Given the description of an element on the screen output the (x, y) to click on. 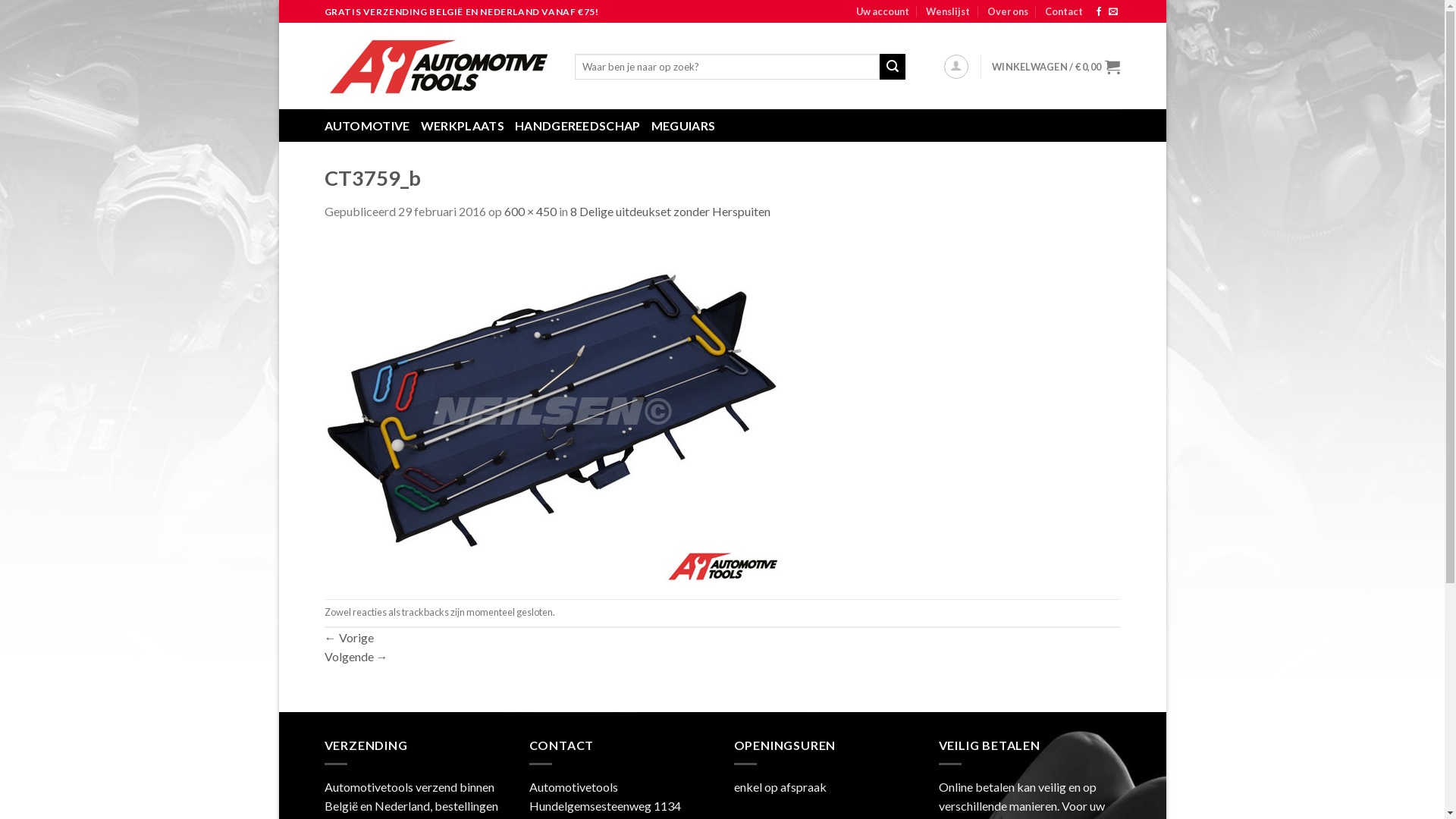
Volg ons op Facebook Element type: hover (1098, 11)
Uw account Element type: text (882, 11)
Over ons Element type: text (1007, 11)
AUTOMOTIVE Element type: text (367, 125)
HANDGEREEDSCHAP Element type: text (577, 125)
Zoeken Element type: text (892, 66)
Stuur ons een e-mail Element type: hover (1112, 11)
Automotivetools - Professional tools for the enthusiast! Element type: hover (438, 65)
WERKPLAATS Element type: text (462, 125)
Wenslijst Element type: text (947, 11)
CT3759_b Element type: hover (551, 408)
MEGUIARS Element type: text (683, 125)
Contact Element type: text (1063, 11)
8 Delige uitdeukset zonder Herspuiten Element type: text (670, 210)
